Given the description of an element on the screen output the (x, y) to click on. 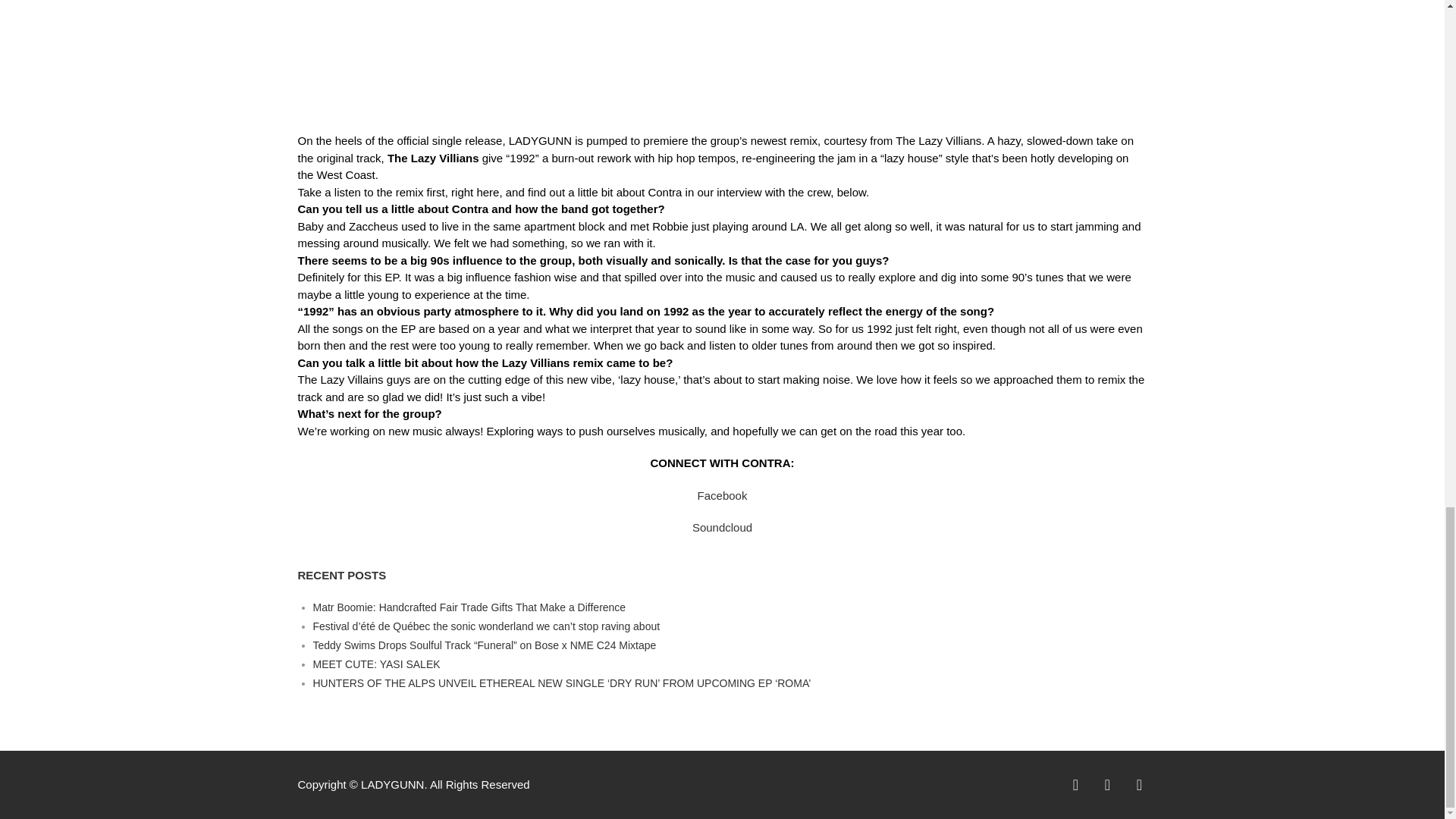
Facebook (722, 495)
MEET CUTE: YASI SALEK (376, 664)
Soundcloud (722, 526)
